Given the description of an element on the screen output the (x, y) to click on. 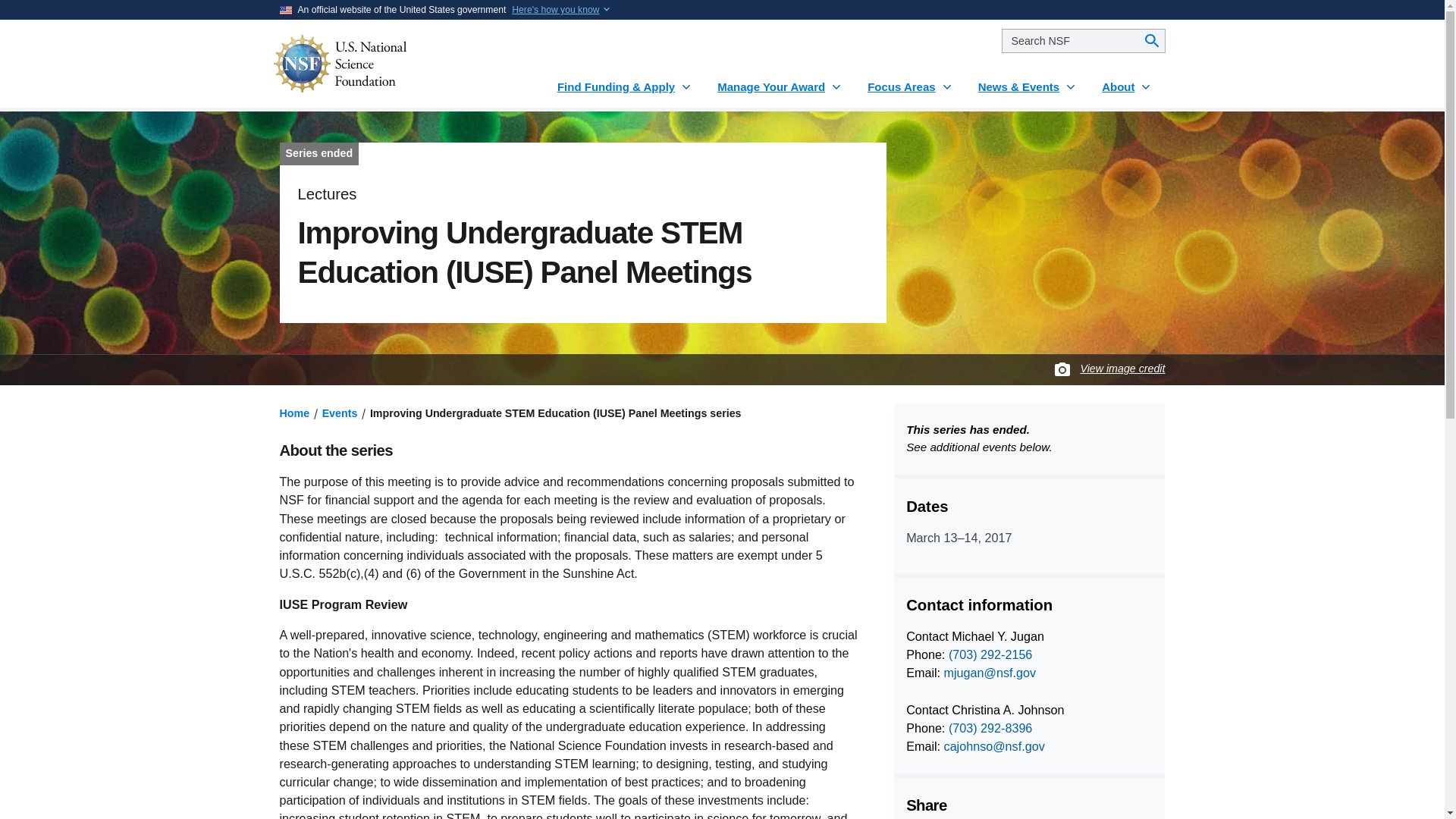
Here's how you know (555, 9)
NSF - National Science Foundation - Home (385, 63)
About (1126, 80)
Events (339, 413)
Home (293, 413)
View image credit (1122, 368)
Manage Your Award (780, 80)
search (1082, 40)
Focus Areas (910, 80)
